Given the description of an element on the screen output the (x, y) to click on. 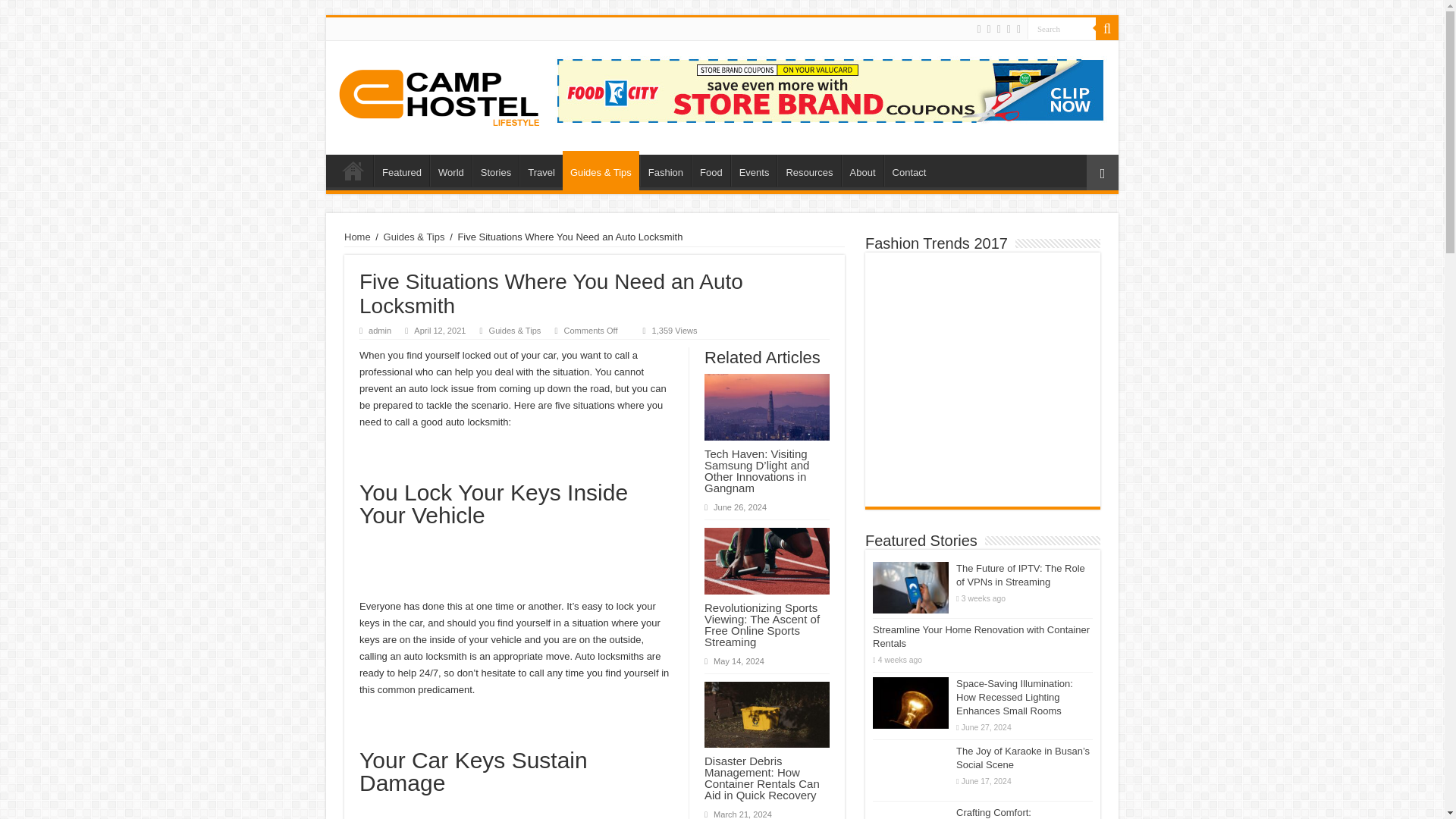
Resources (808, 170)
Search (1061, 28)
Search (1061, 28)
Search (1107, 28)
Events (753, 170)
Travel (540, 170)
Fashion (665, 170)
Home (352, 170)
Contact (908, 170)
Search (1061, 28)
Food (710, 170)
World (450, 170)
Featured (401, 170)
Stories (494, 170)
About (862, 170)
